Given the description of an element on the screen output the (x, y) to click on. 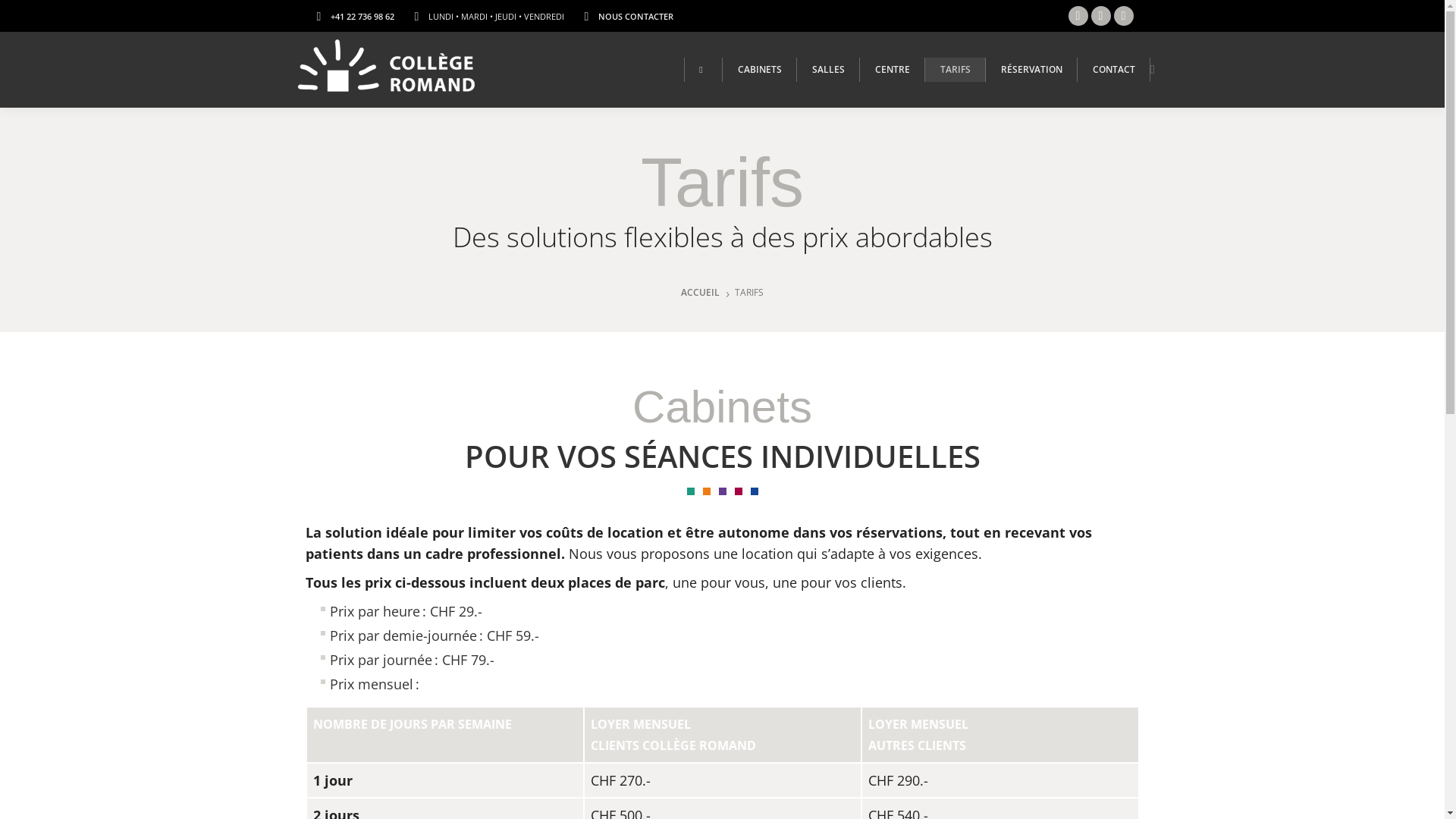
Aller ! Element type: text (32, 15)
NOUS CONTACTER Element type: text (634, 15)
+41 22 736 98 62 Element type: text (362, 15)
TARIFS Element type: text (955, 69)
Cookies Element type: text (990, 795)
SALLES Element type: text (828, 69)
Impressum Element type: text (730, 795)
ACCUEIL Element type: text (699, 291)
CONTACT Element type: text (1113, 69)
CENTRE Element type: text (892, 69)
CABINETS Element type: text (759, 69)
Contact Element type: text (1118, 795)
Conditions Element type: text (1054, 795)
